Given the description of an element on the screen output the (x, y) to click on. 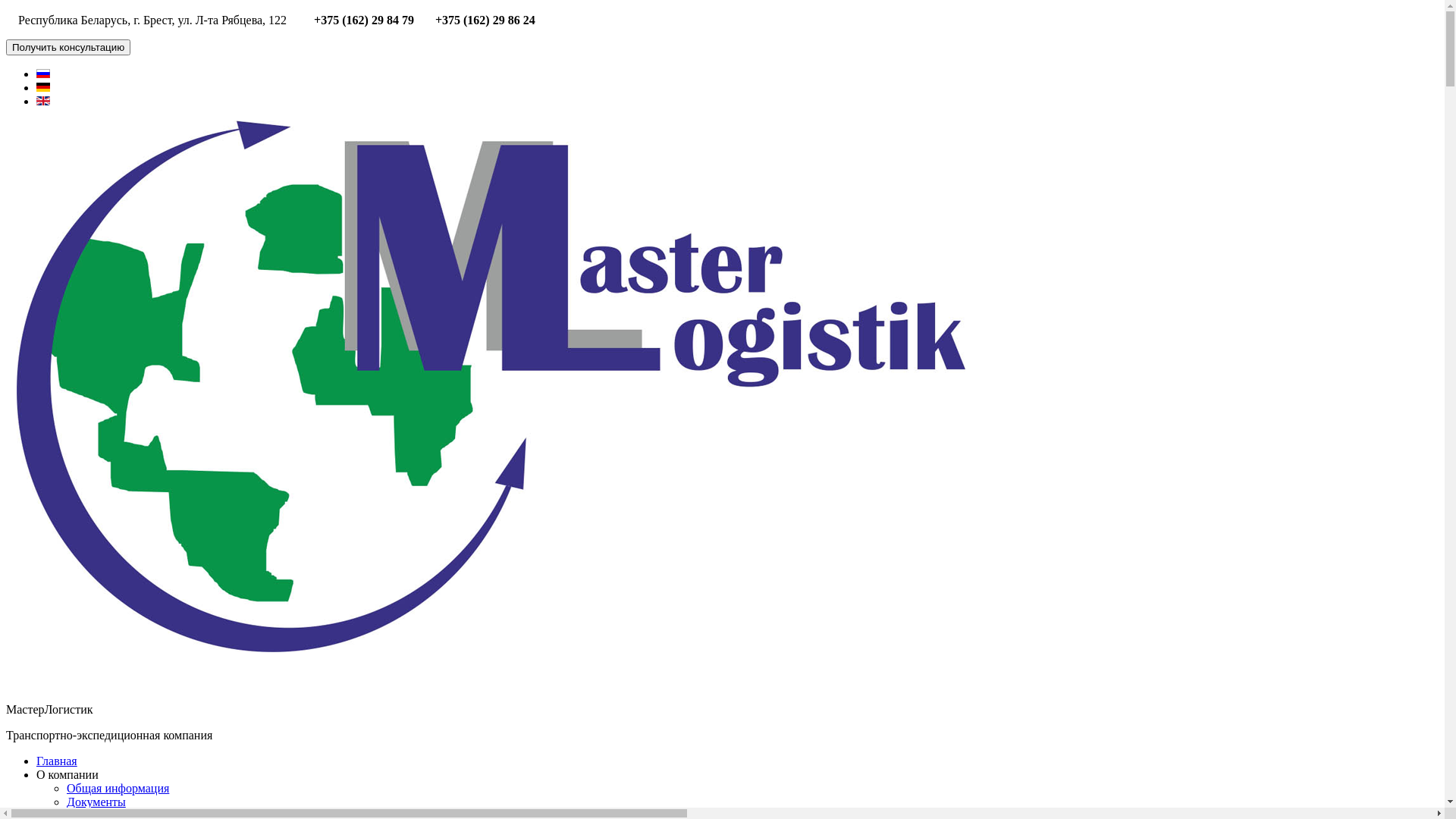
Deutsch (Deutschland) Element type: hover (43, 86)
English (UK) Element type: hover (43, 100)
